Given the description of an element on the screen output the (x, y) to click on. 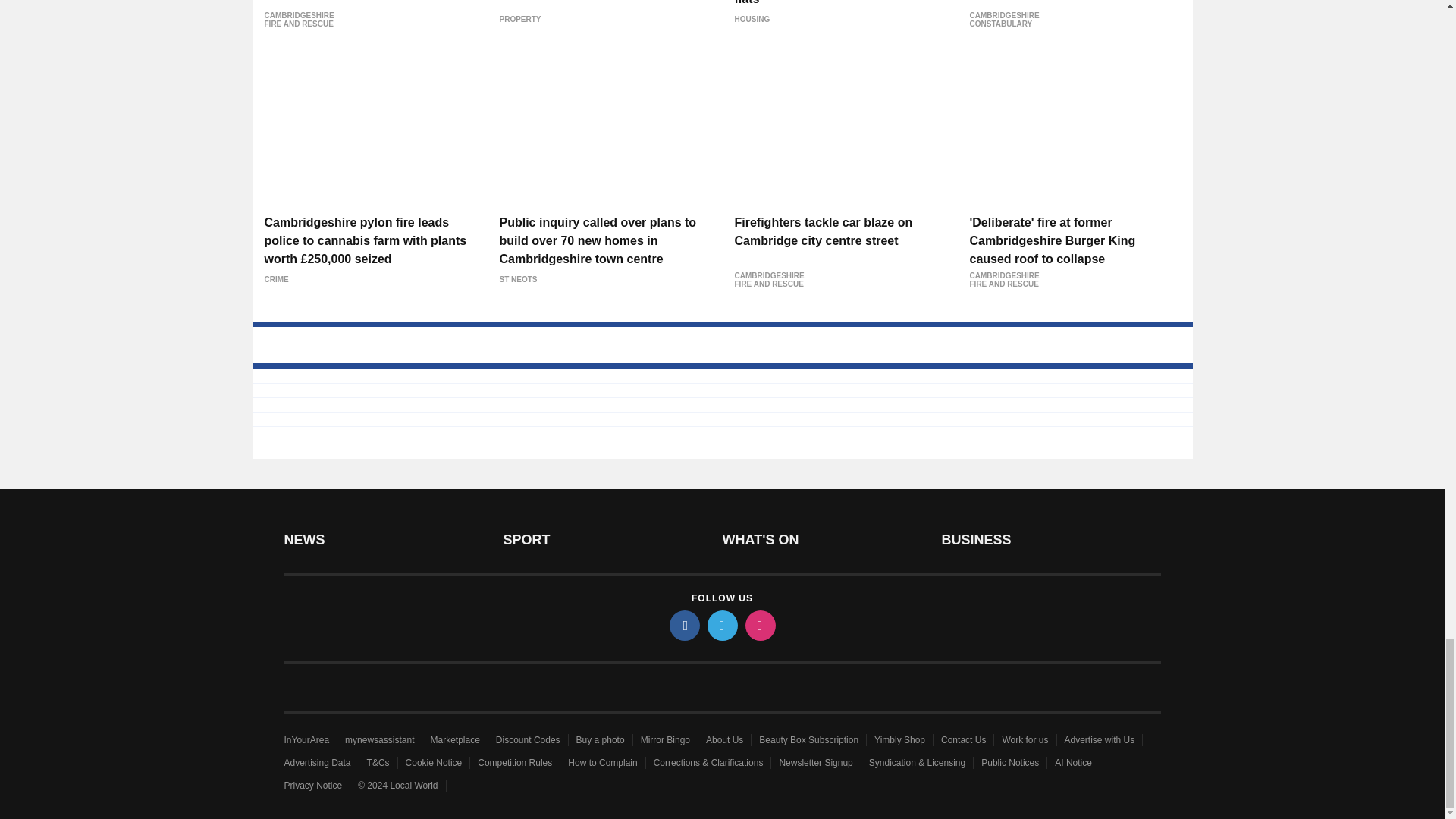
facebook (683, 625)
instagram (759, 625)
twitter (721, 625)
